Given the description of an element on the screen output the (x, y) to click on. 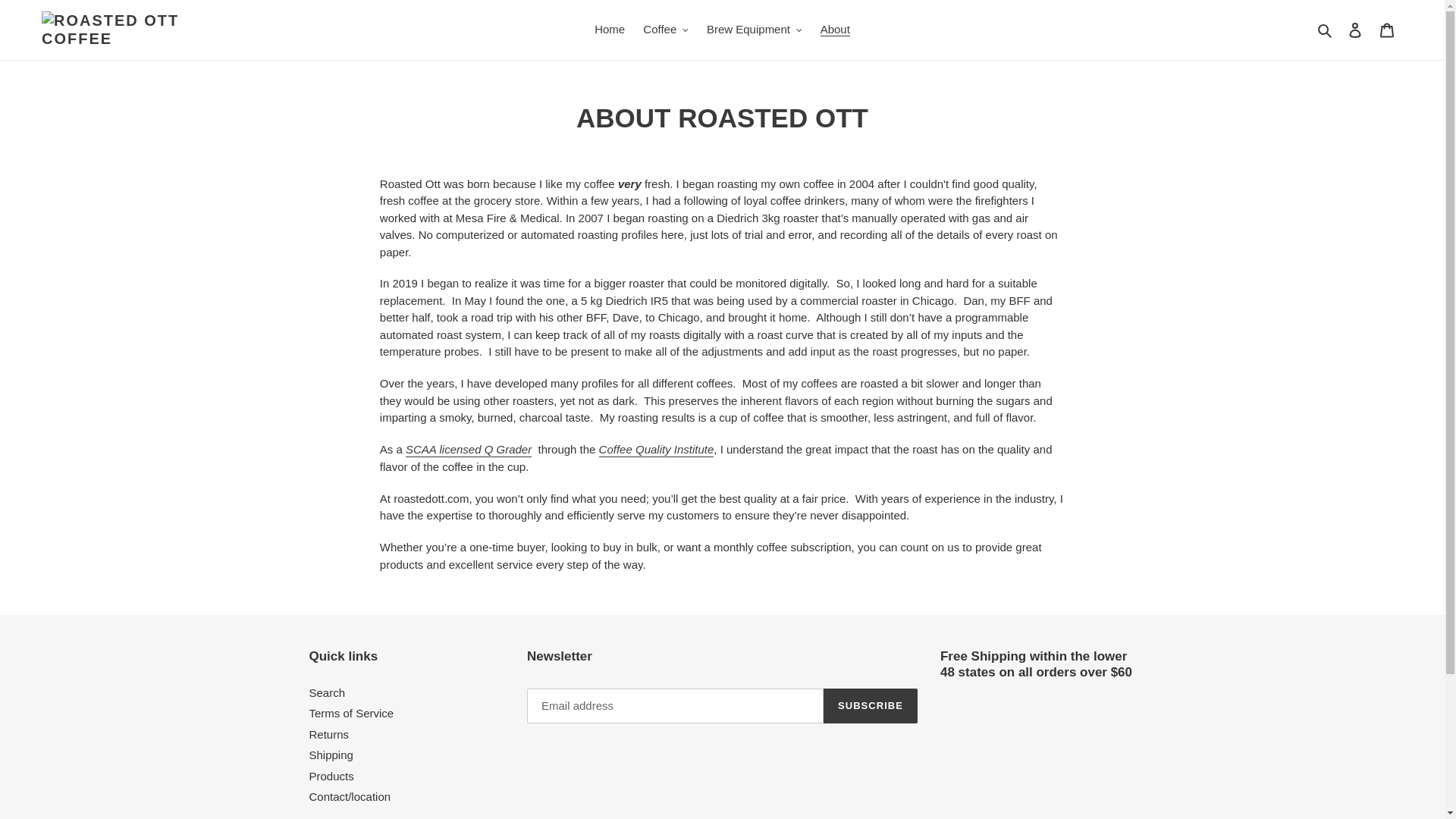
About (834, 29)
Home (608, 29)
Coffee Institute (656, 450)
Search (1326, 29)
Coffee (664, 29)
Brew Equipment (753, 29)
Log in (1355, 29)
Cart (1387, 29)
